Given the description of an element on the screen output the (x, y) to click on. 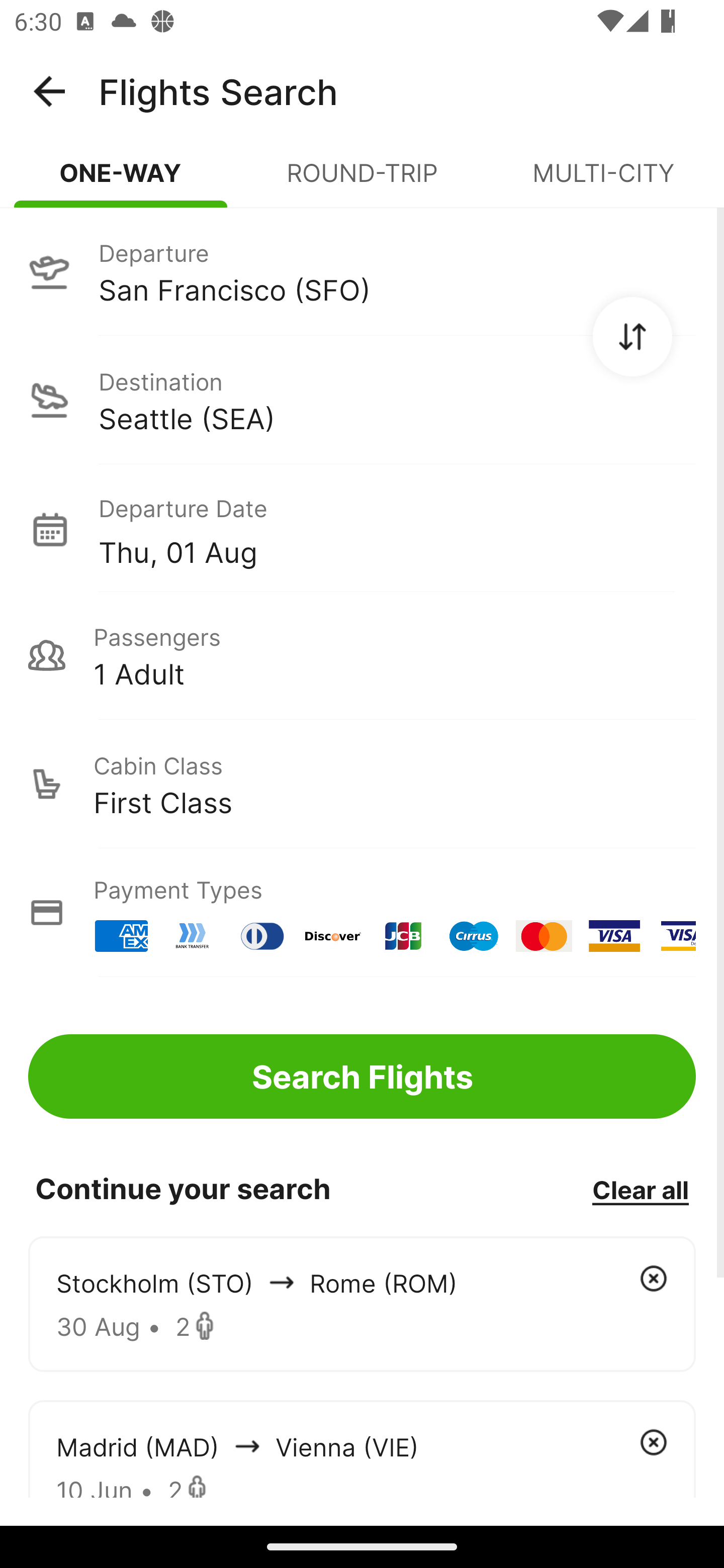
ONE-WAY (120, 180)
ROUND-TRIP (361, 180)
MULTI-CITY (603, 180)
Departure San Francisco (SFO) (362, 270)
Destination Seattle (SEA) (362, 400)
Departure Date Thu, 01 Aug (396, 528)
Passengers 1 Adult (362, 655)
Cabin Class First Class (362, 783)
Payment Types (362, 912)
Search Flights (361, 1075)
Clear all (640, 1189)
Madrid (MAD)  arrowIcon  Vienna (VIE) 10 Jun •  2  (361, 1448)
